Given the description of an element on the screen output the (x, y) to click on. 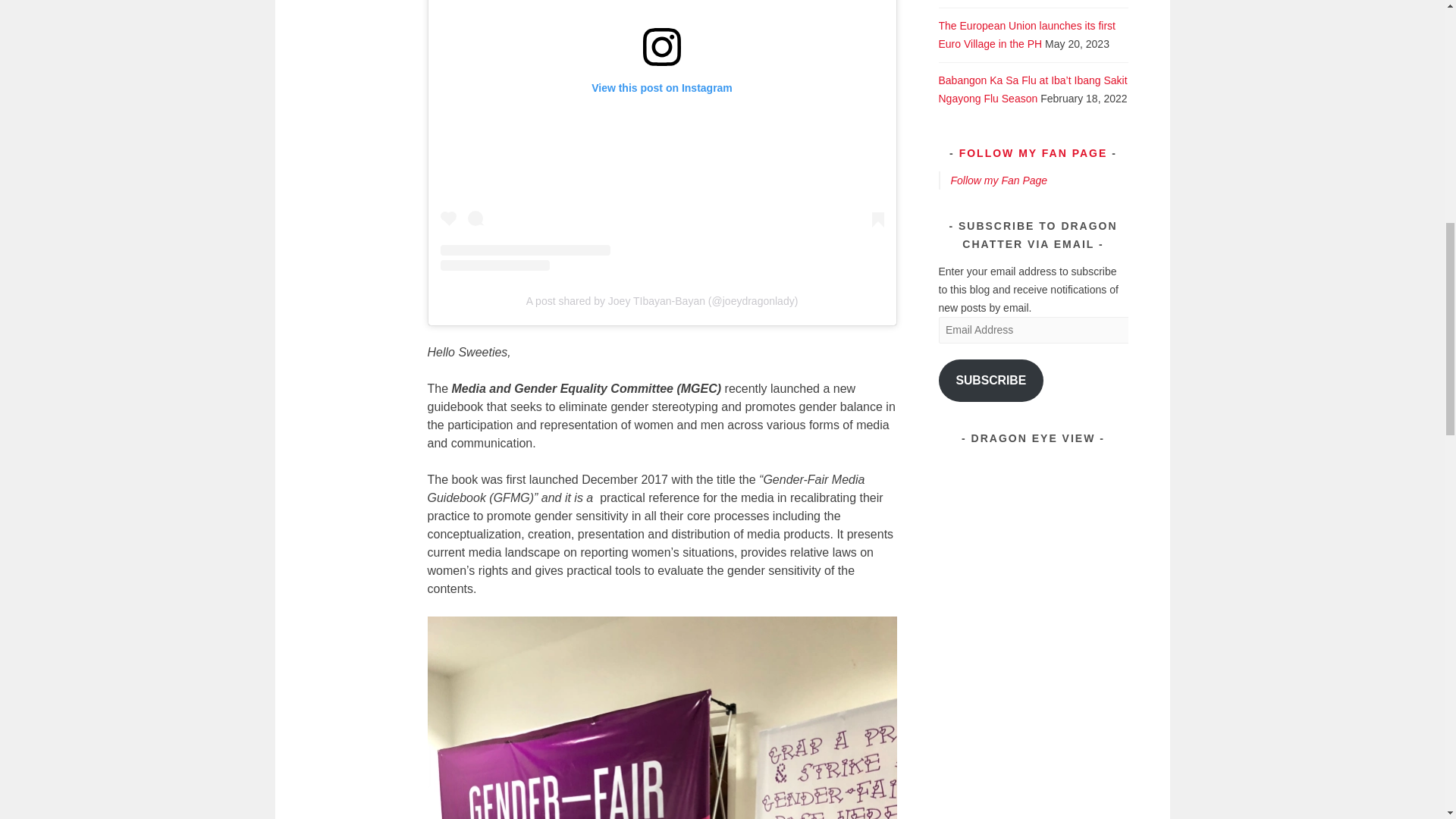
SUBSCRIBE (991, 380)
FOLLOW MY FAN PAGE (1033, 152)
Follow my Fan Page (999, 180)
View this post on Instagram (661, 135)
The European Union launches its first Euro Village in the PH (1027, 34)
